Given the description of an element on the screen output the (x, y) to click on. 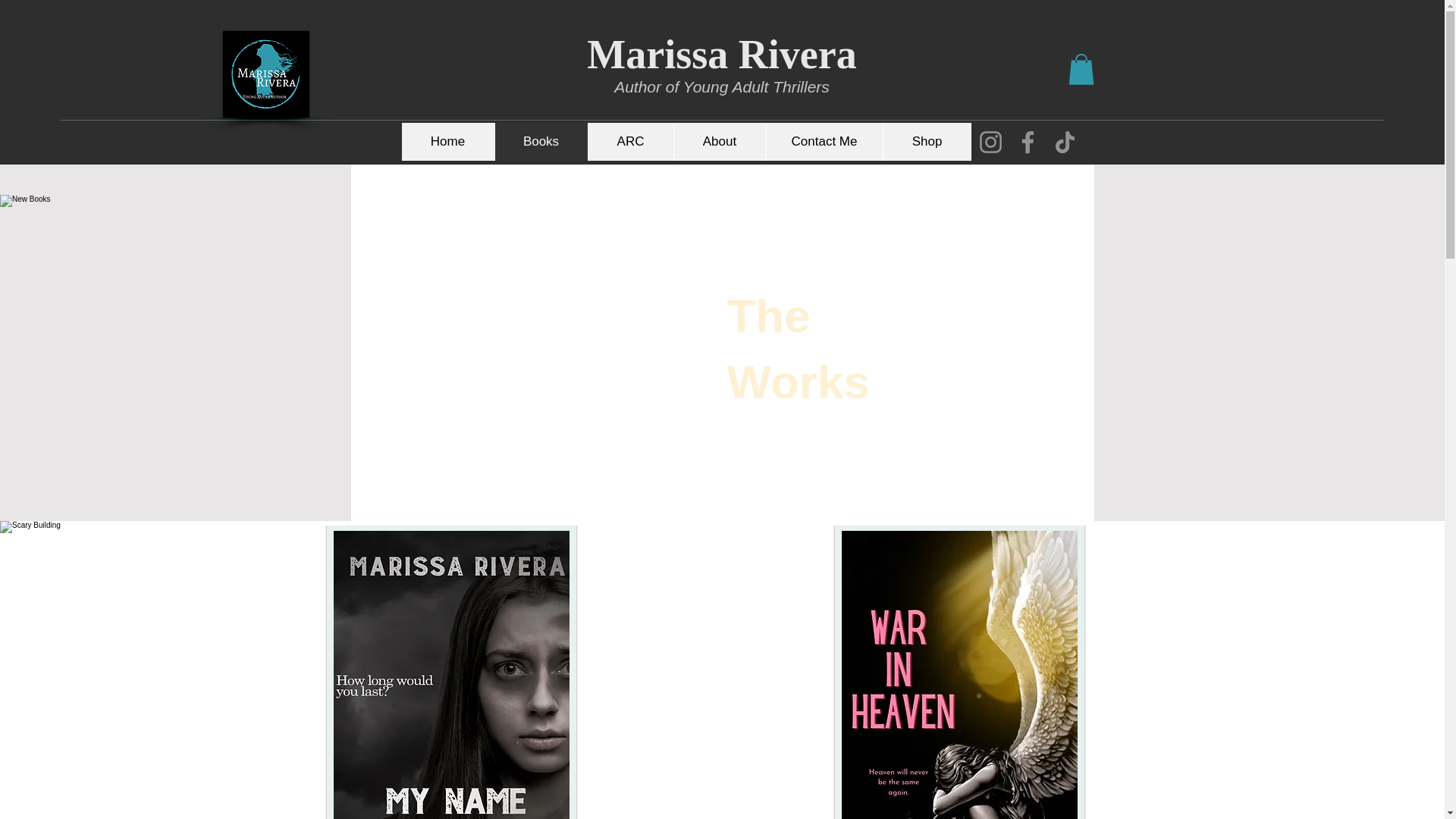
Home (448, 141)
Shop (926, 141)
Contact Me (823, 141)
Marissa Rivera (721, 53)
About (718, 141)
Books (541, 141)
ARC (629, 141)
Author of Young Adult Thrillers (721, 86)
